Given the description of an element on the screen output the (x, y) to click on. 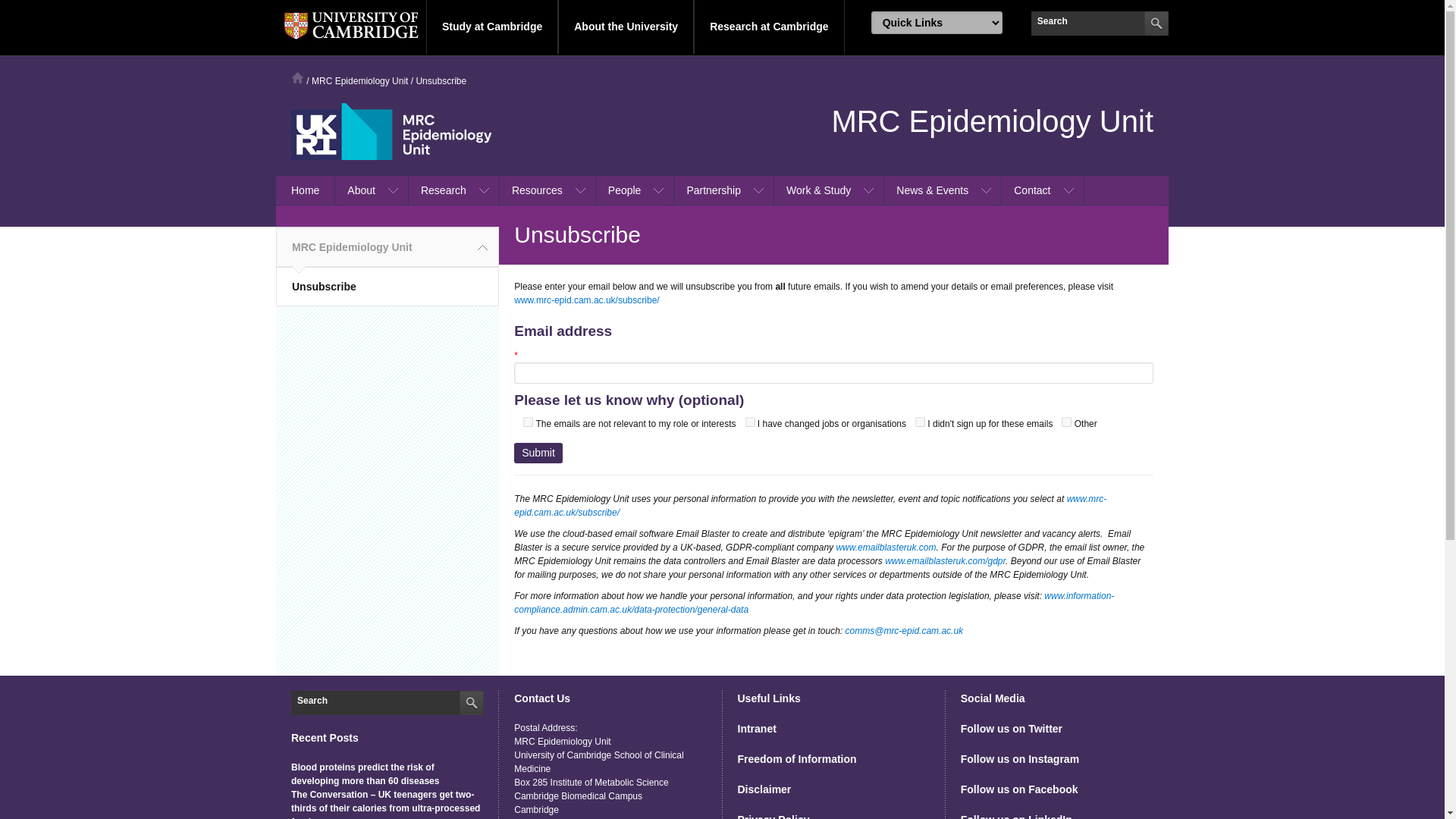
required field (833, 364)
Research at Cambridge (769, 27)
Study at Cambridge (491, 27)
I have changed jobs or organisations (749, 421)
Contact Us (541, 701)
I didn't sign up for these emails (919, 421)
Other (1066, 421)
The emails are not relevant to my role or interests (527, 421)
About the University (625, 27)
Submit (537, 452)
